Given the description of an element on the screen output the (x, y) to click on. 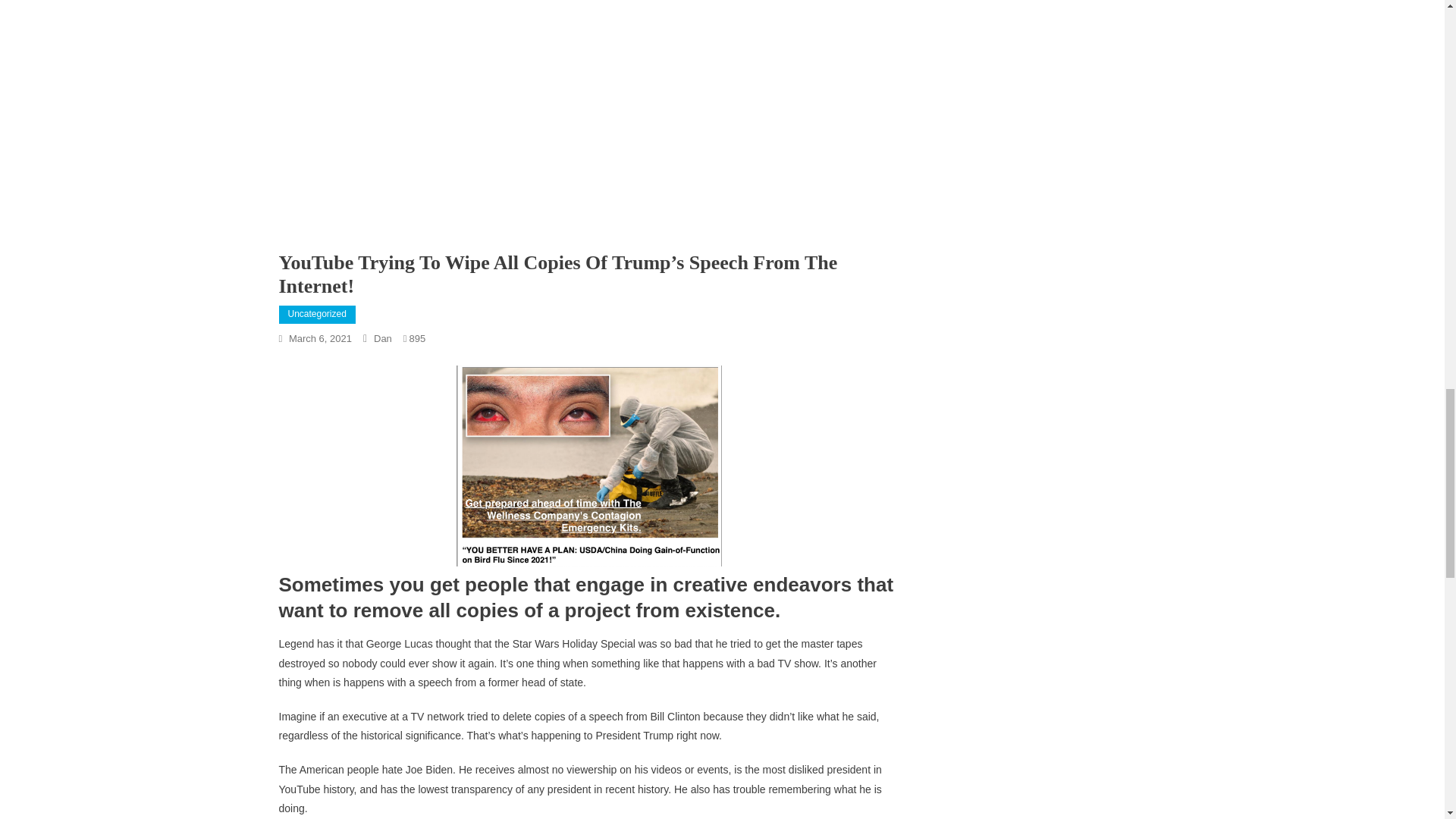
Uncategorized (317, 314)
March 6, 2021 (320, 337)
Dan (382, 337)
